Given the description of an element on the screen output the (x, y) to click on. 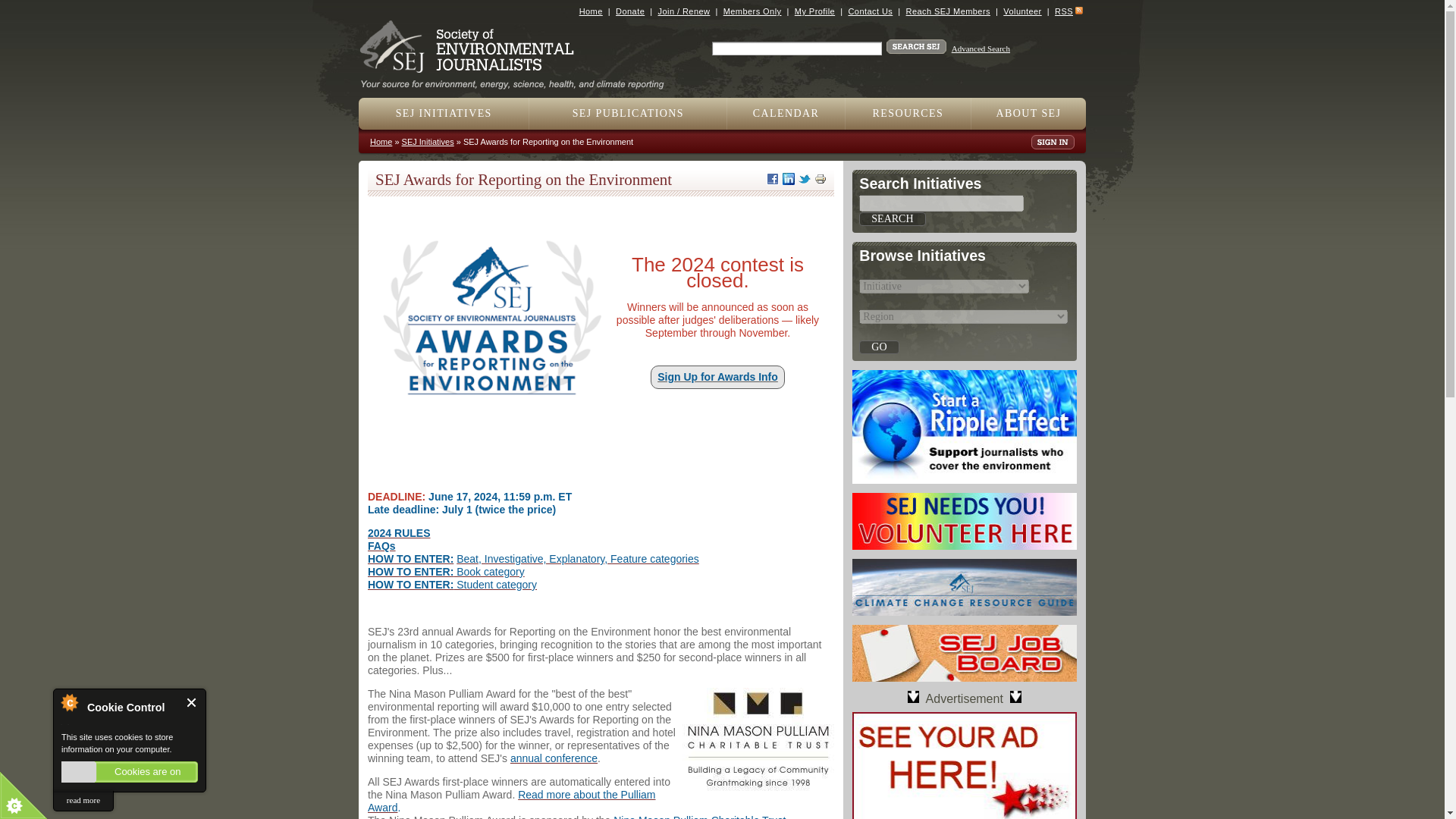
Search (891, 219)
SEJ PUBLICATIONS (627, 113)
Donate (630, 10)
Cookies are on (129, 772)
RSS (1063, 10)
Home (518, 79)
SEJ INITIATIVES (443, 113)
Members Only (752, 10)
Close (191, 702)
Volunteer (1022, 10)
Contact Us (869, 10)
Enter the terms you wish to search for. (796, 48)
Home (590, 10)
Advanced Search (981, 48)
Reach SEJ Members (947, 10)
